Given the description of an element on the screen output the (x, y) to click on. 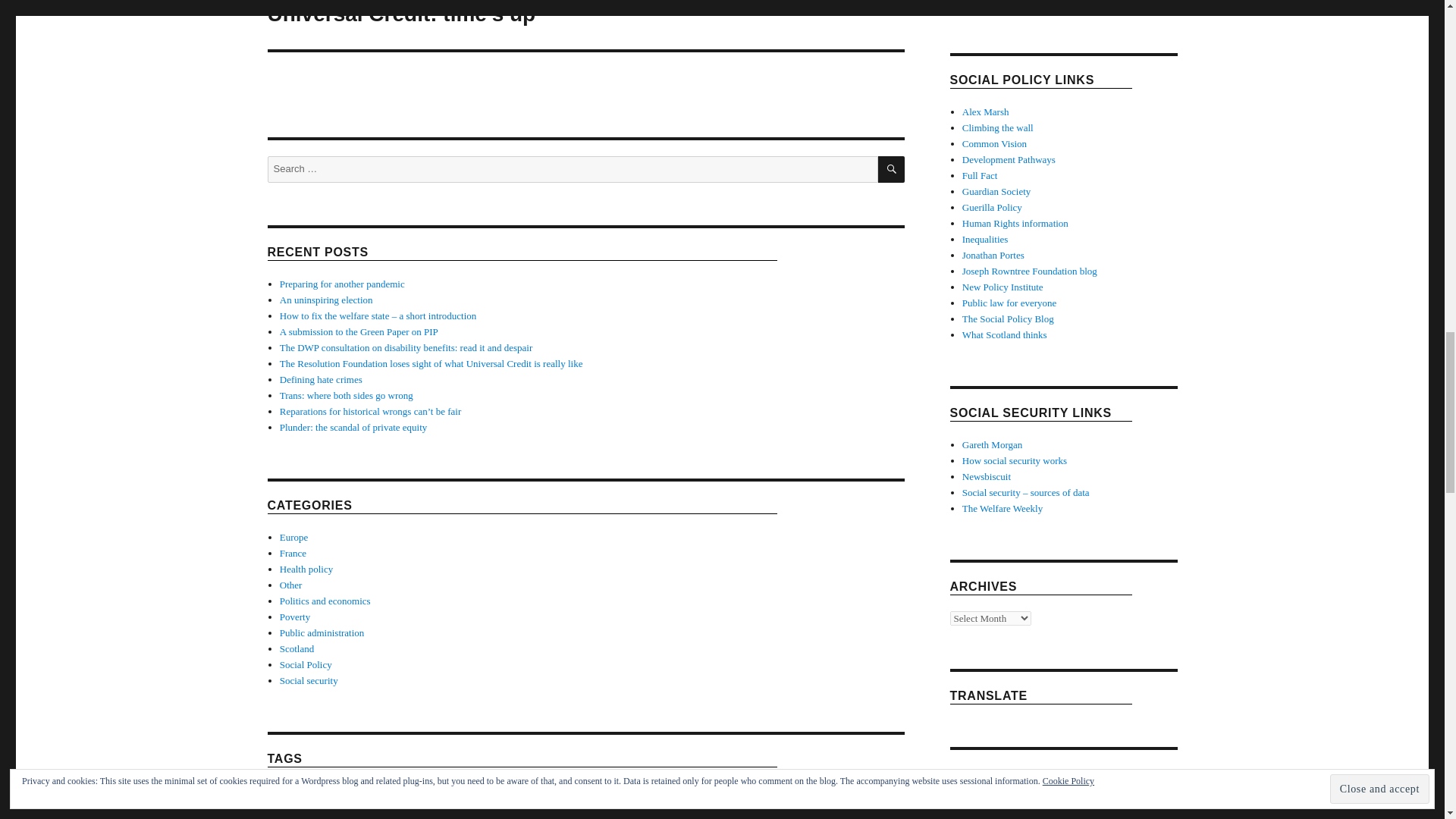
SEARCH (890, 169)
Politics and economics (325, 600)
Preparing for another pandemic (341, 283)
France (292, 552)
Public administration (322, 632)
An uninspiring election (325, 299)
Europe (293, 536)
Poverty (294, 616)
Health policy (306, 568)
The British Onion (986, 476)
A submission to the Green Paper on PIP (358, 331)
Trans: where both sides go wrong (346, 395)
